Given the description of an element on the screen output the (x, y) to click on. 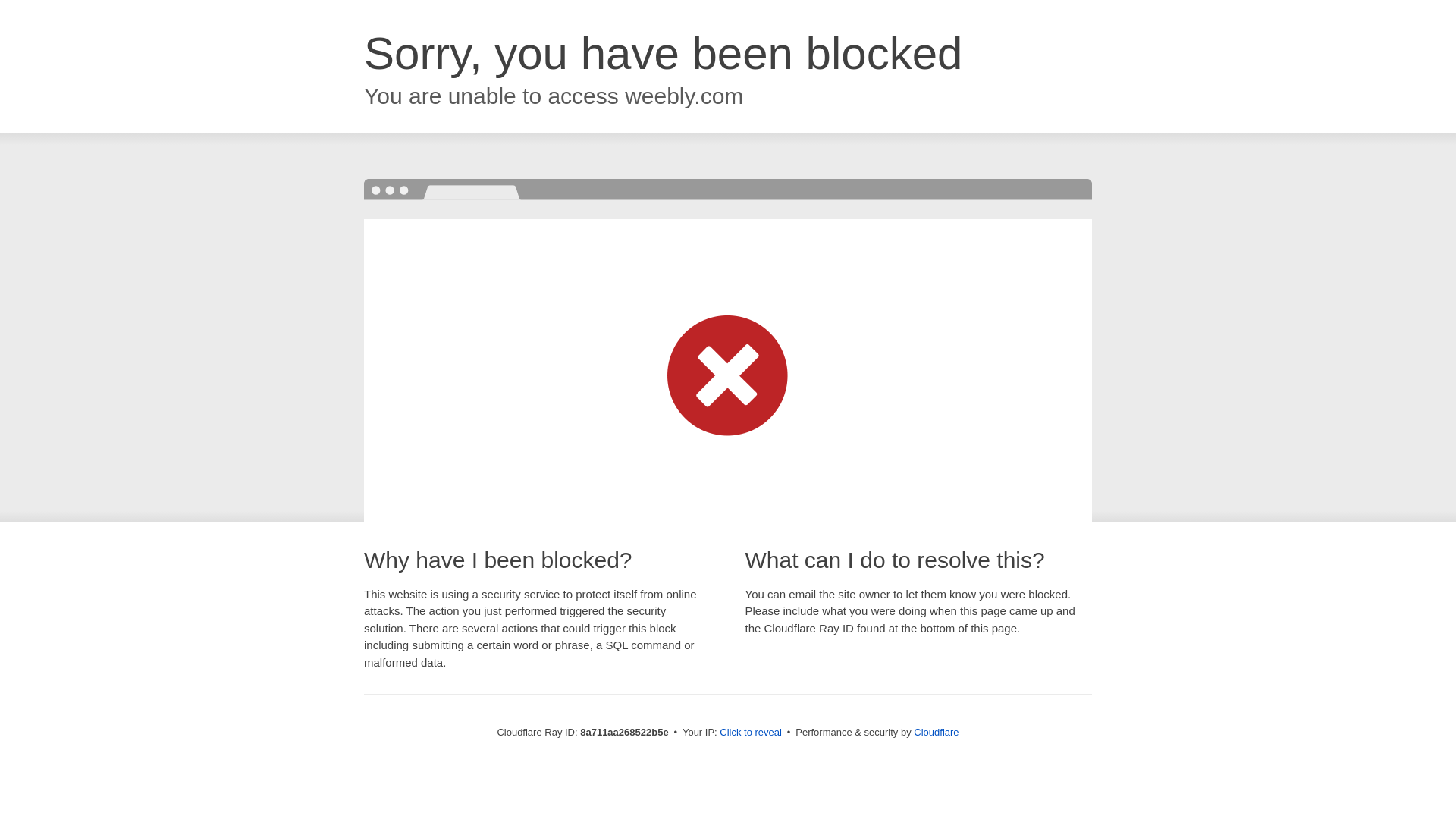
Cloudflare (936, 731)
Click to reveal (750, 732)
